Given the description of an element on the screen output the (x, y) to click on. 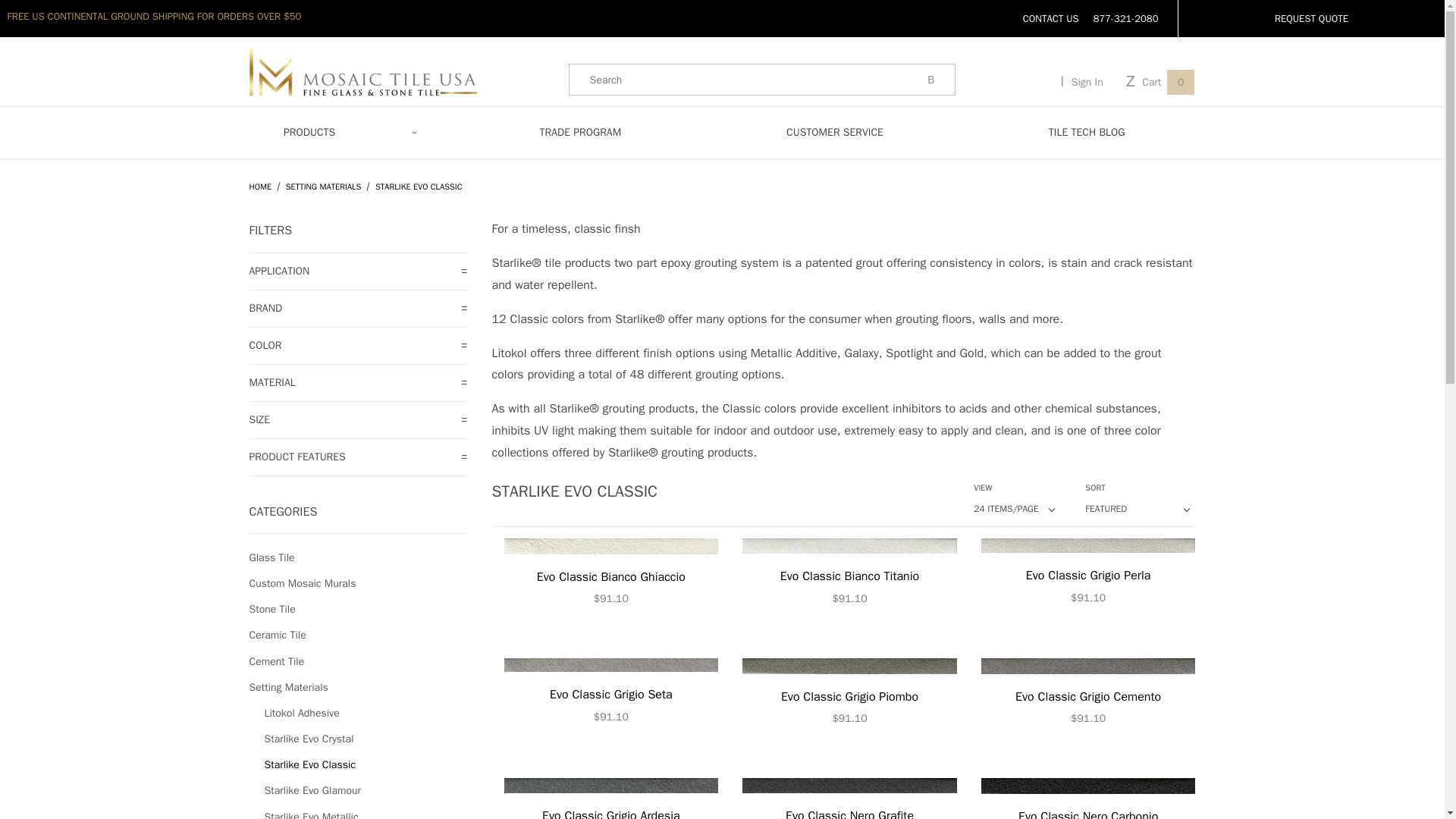
Sign In (1071, 237)
877-321-2080 (1125, 18)
TILE TECH BLOG (1087, 132)
Evo Classic Bianco Ghiaccio (610, 573)
Evo Classic Grigio Piombo (849, 693)
Contact Us (1050, 18)
Mosaic Tile USA (362, 70)
Setting Materials (324, 185)
Evo Classic Grigio Perla (1088, 573)
Evo Classic Nero Grafite (849, 798)
877-321-2080 (1125, 18)
Home (260, 185)
Sign In (1081, 81)
Evo Classic Grigio Cemento (1088, 693)
CUSTOMER SERVICE (834, 132)
